Given the description of an element on the screen output the (x, y) to click on. 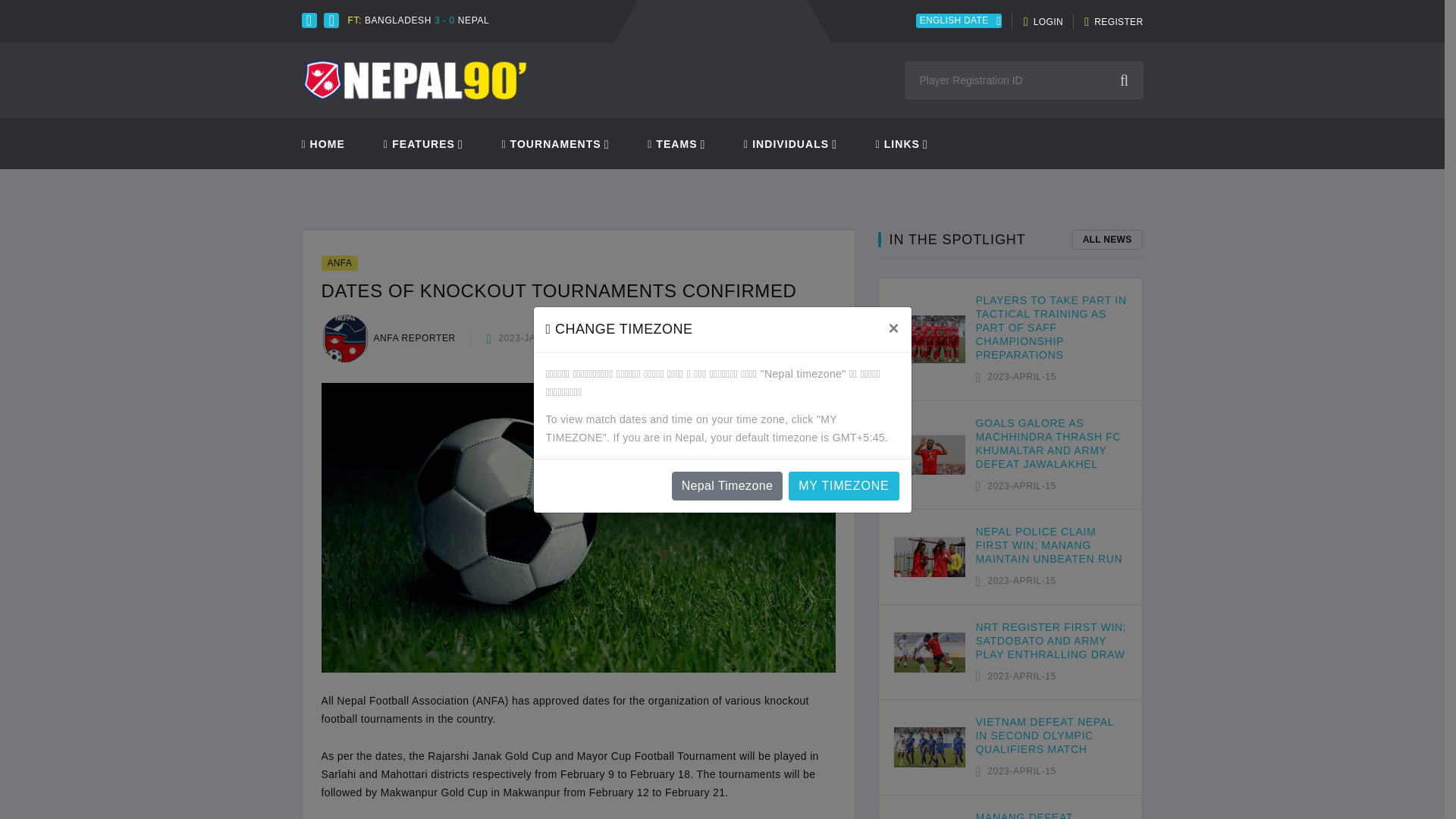
TOURNAMENTS (549, 144)
ENGLISH DATE (959, 20)
LOGIN (1042, 22)
FEATURES (419, 144)
HOME (323, 144)
TEAMS (672, 144)
REGISTER (1113, 22)
INDIVIDUALS (786, 144)
